Given the description of an element on the screen output the (x, y) to click on. 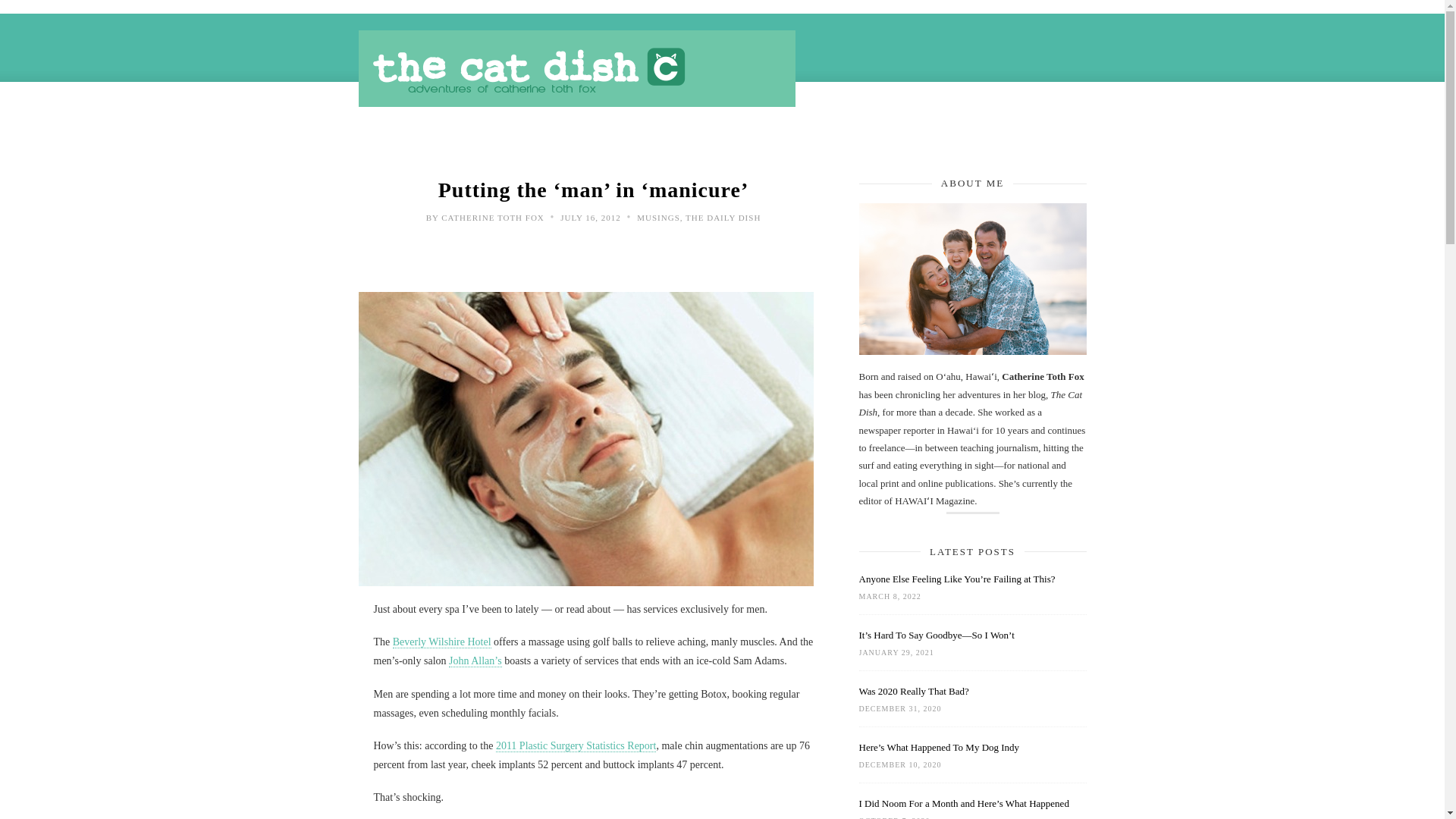
ABOUT ME (972, 142)
Permanent Link: Was 2020 Really That Bad? (972, 690)
Posts by Catherine Toth Fox (492, 216)
VIDEOS (892, 142)
2011 Plastic Surgery Statistics Report (576, 746)
CONTACT (1057, 142)
CATHERINE TOTH FOX (492, 216)
MUSINGS (658, 216)
THE DAILY DISH (722, 216)
MUSINGS (469, 142)
Beverly Wilshire Hotel (442, 642)
manspa (585, 438)
FOOD (539, 142)
